Given the description of an element on the screen output the (x, y) to click on. 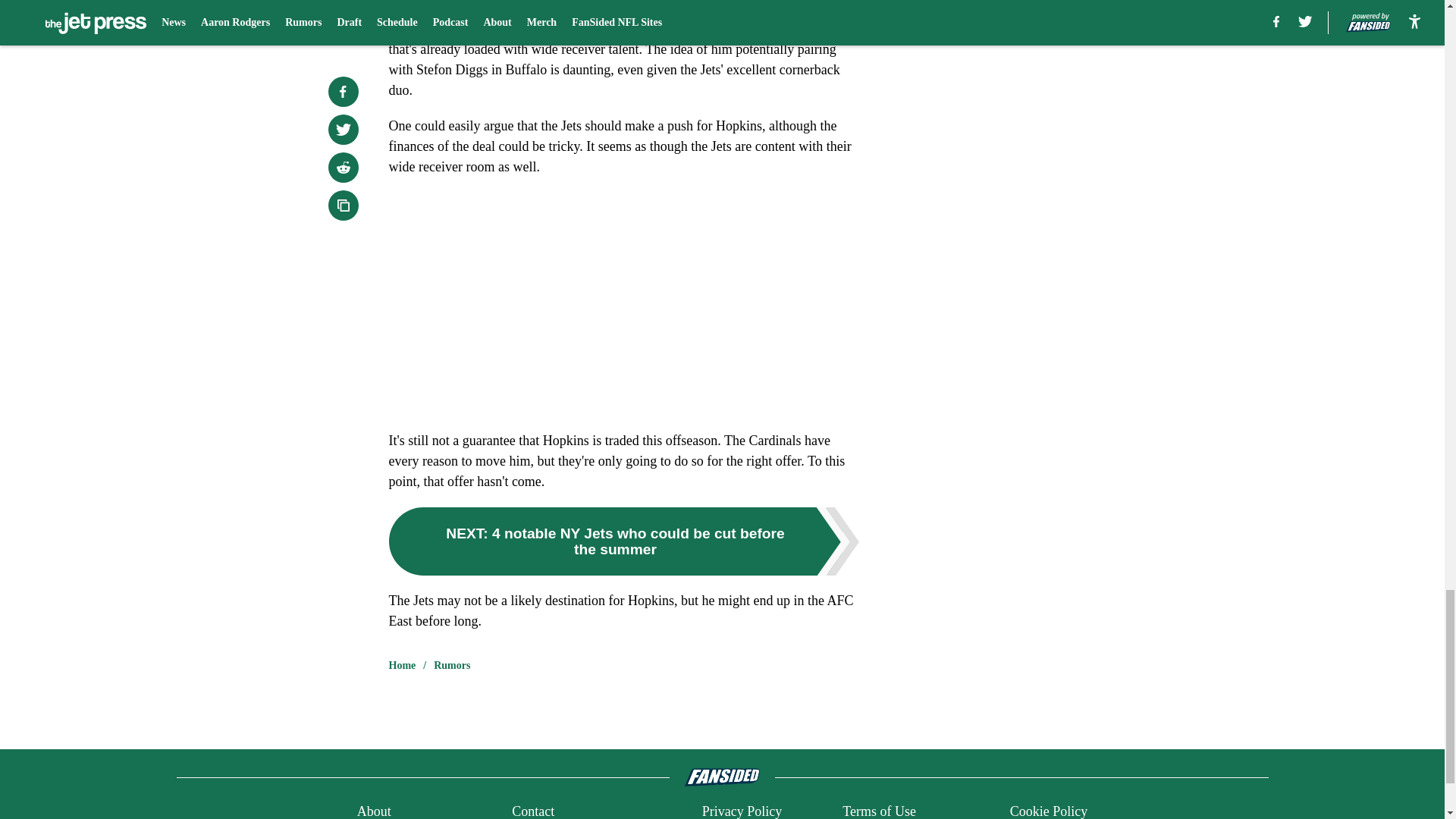
Home (401, 665)
Contact (533, 810)
Terms of Use (879, 810)
About (373, 810)
Cookie Policy (1048, 810)
NEXT: 4 notable NY Jets who could be cut before the summer (623, 540)
Privacy Policy (742, 810)
Rumors (451, 665)
